Given the description of an element on the screen output the (x, y) to click on. 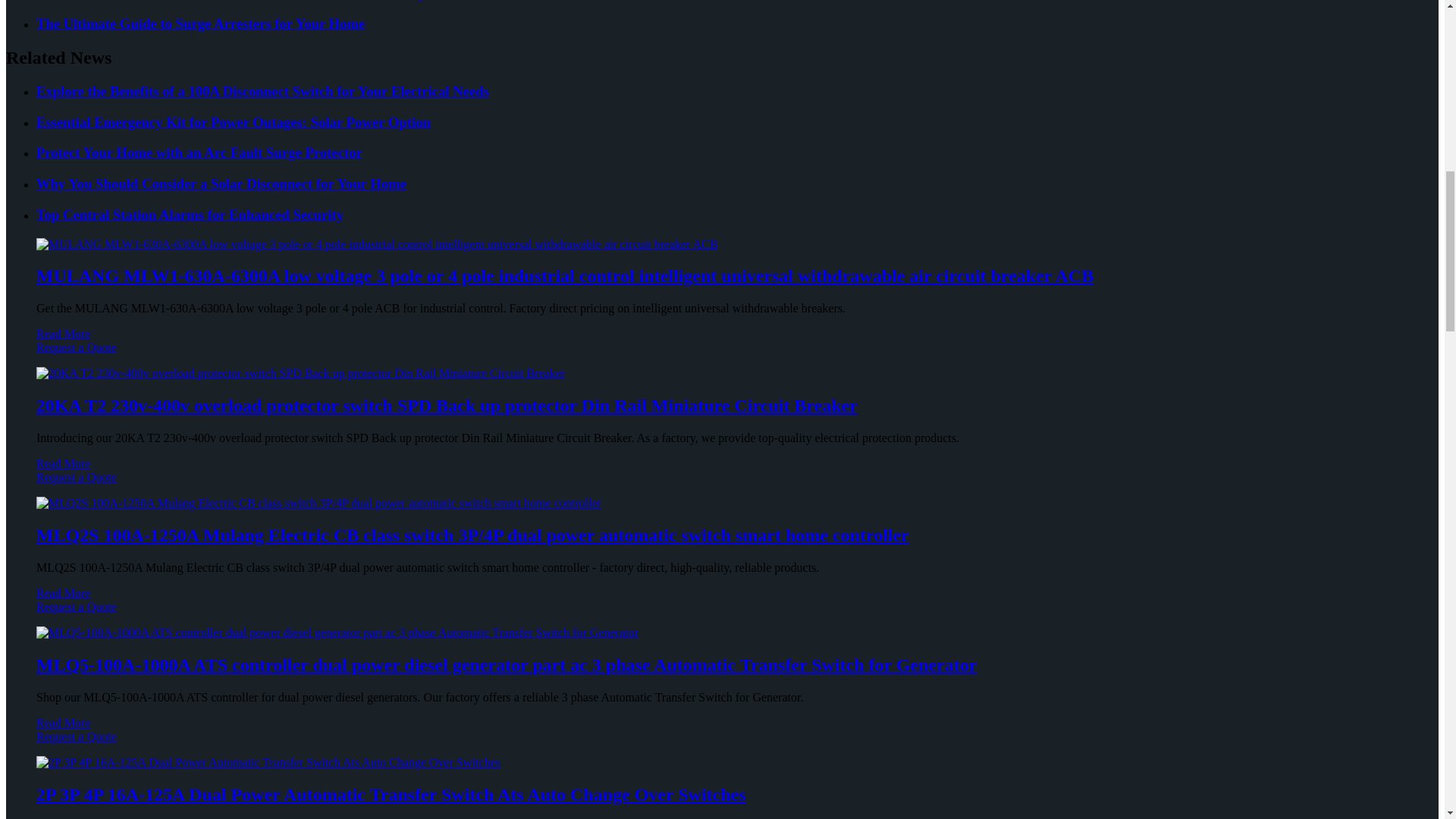
Request a Quote (721, 354)
Read More (63, 333)
